Given the description of an element on the screen output the (x, y) to click on. 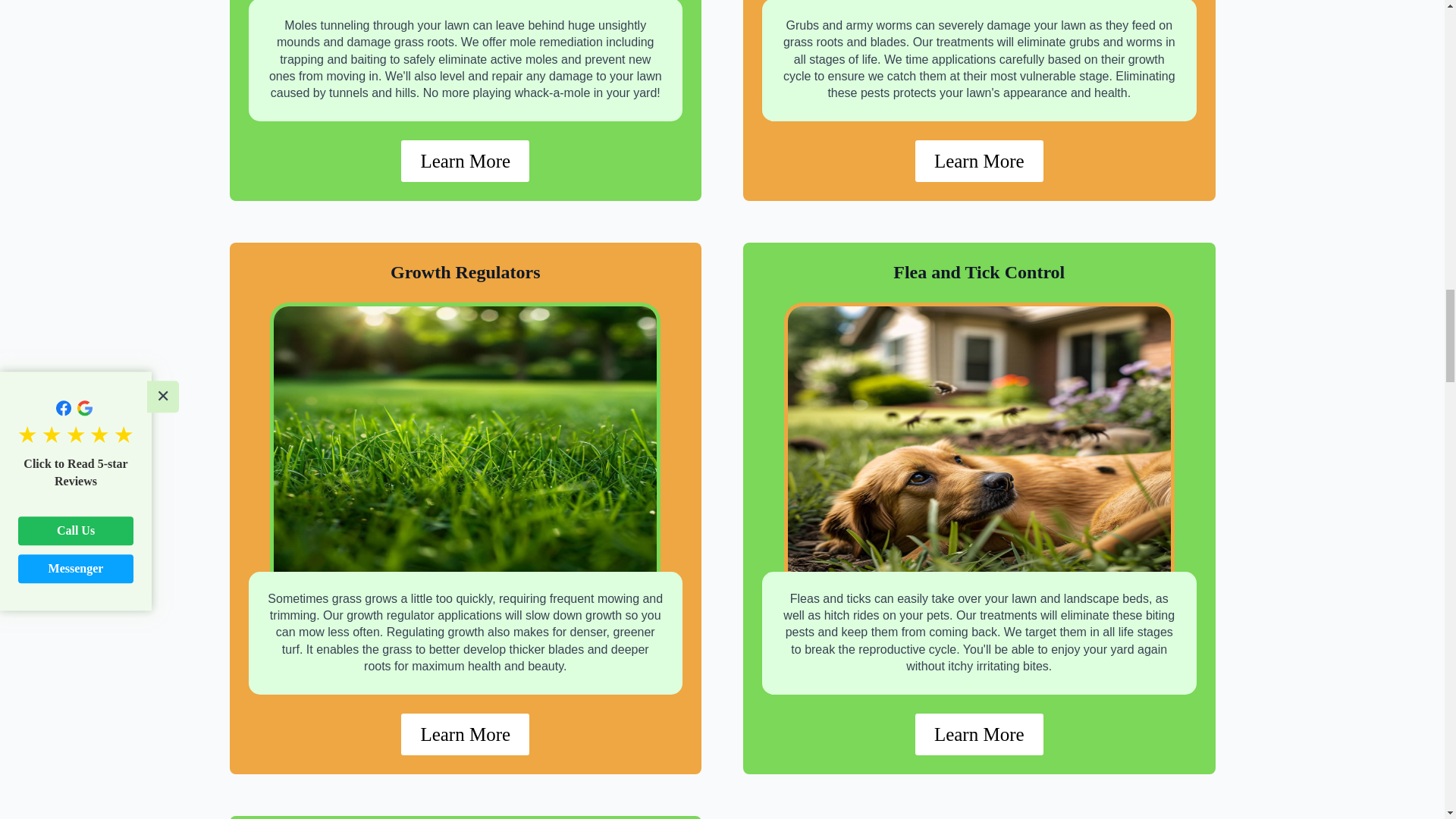
Learn More (465, 734)
Learn More (979, 160)
Learn More (979, 734)
Learn More (465, 160)
